Given the description of an element on the screen output the (x, y) to click on. 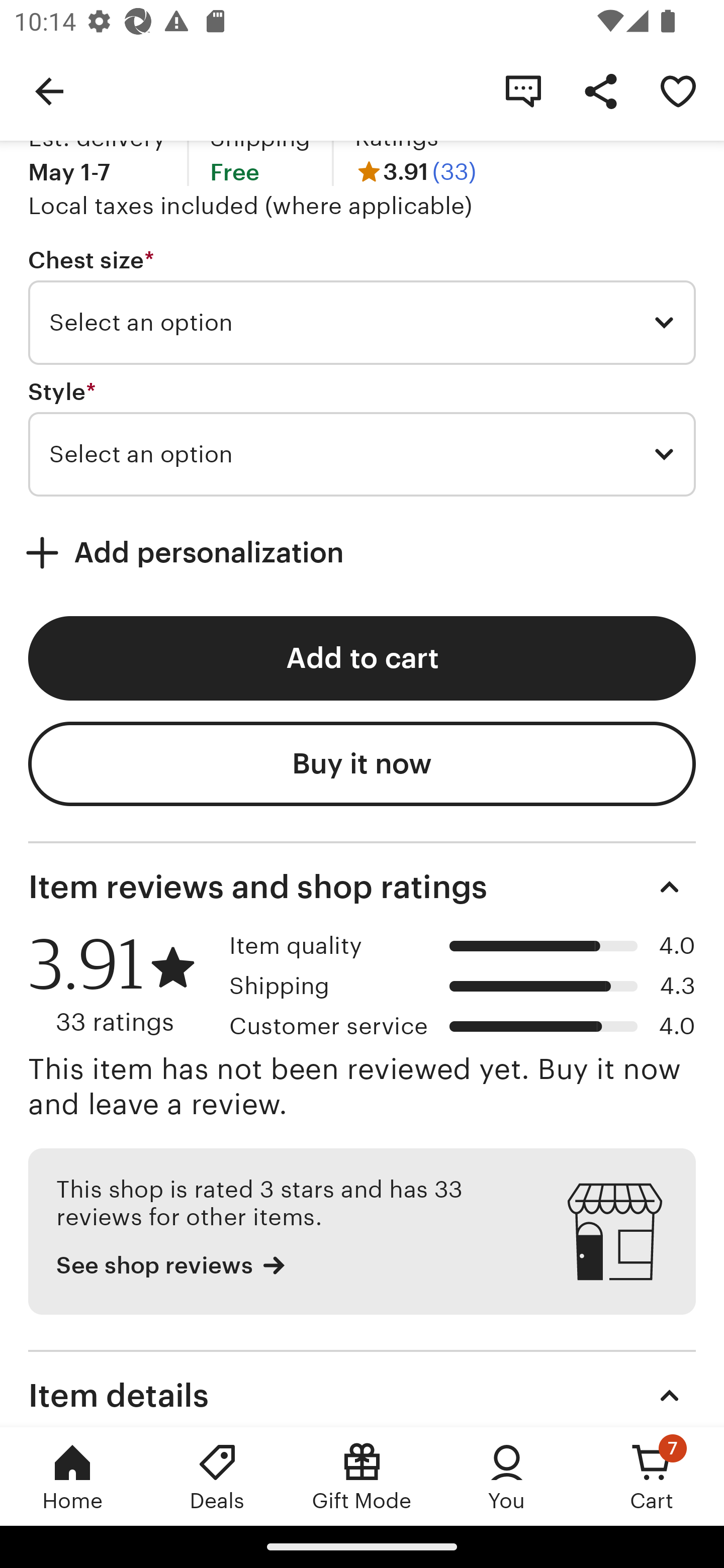
Navigate up (49, 90)
Contact shop (523, 90)
Share (600, 90)
3.91 (33) (415, 172)
Chest size * Required Select an option (361, 306)
Select an option (361, 322)
Style * Required Select an option (361, 438)
Select an option (361, 454)
Add personalization Add personalization Required (362, 552)
Add to cart (361, 658)
Buy it now (361, 763)
Item reviews and shop ratings (362, 887)
3.91 33 ratings (121, 984)
Item details (362, 1388)
Deals (216, 1475)
Gift Mode (361, 1475)
You (506, 1475)
Cart, 7 new notifications Cart (651, 1475)
